Given the description of an element on the screen output the (x, y) to click on. 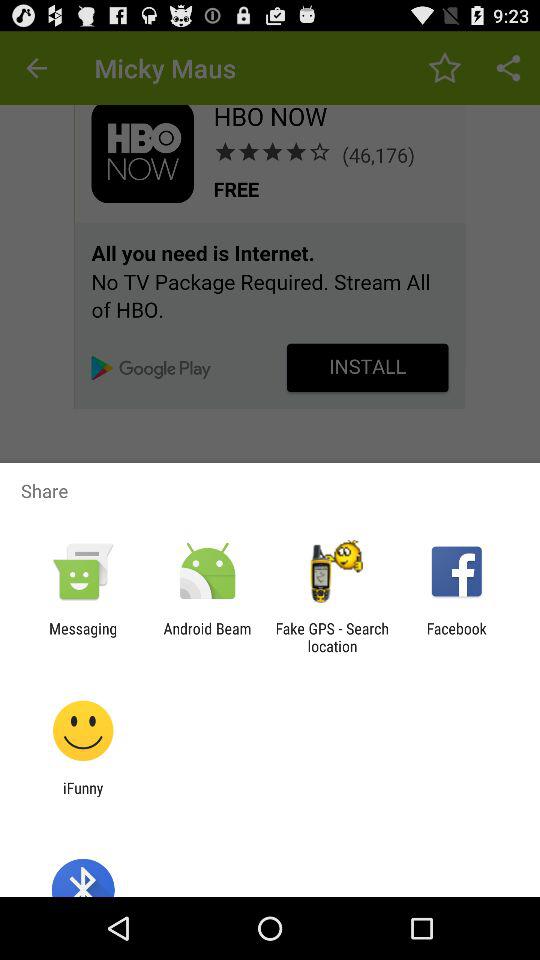
tap item to the left of the facebook icon (332, 637)
